Given the description of an element on the screen output the (x, y) to click on. 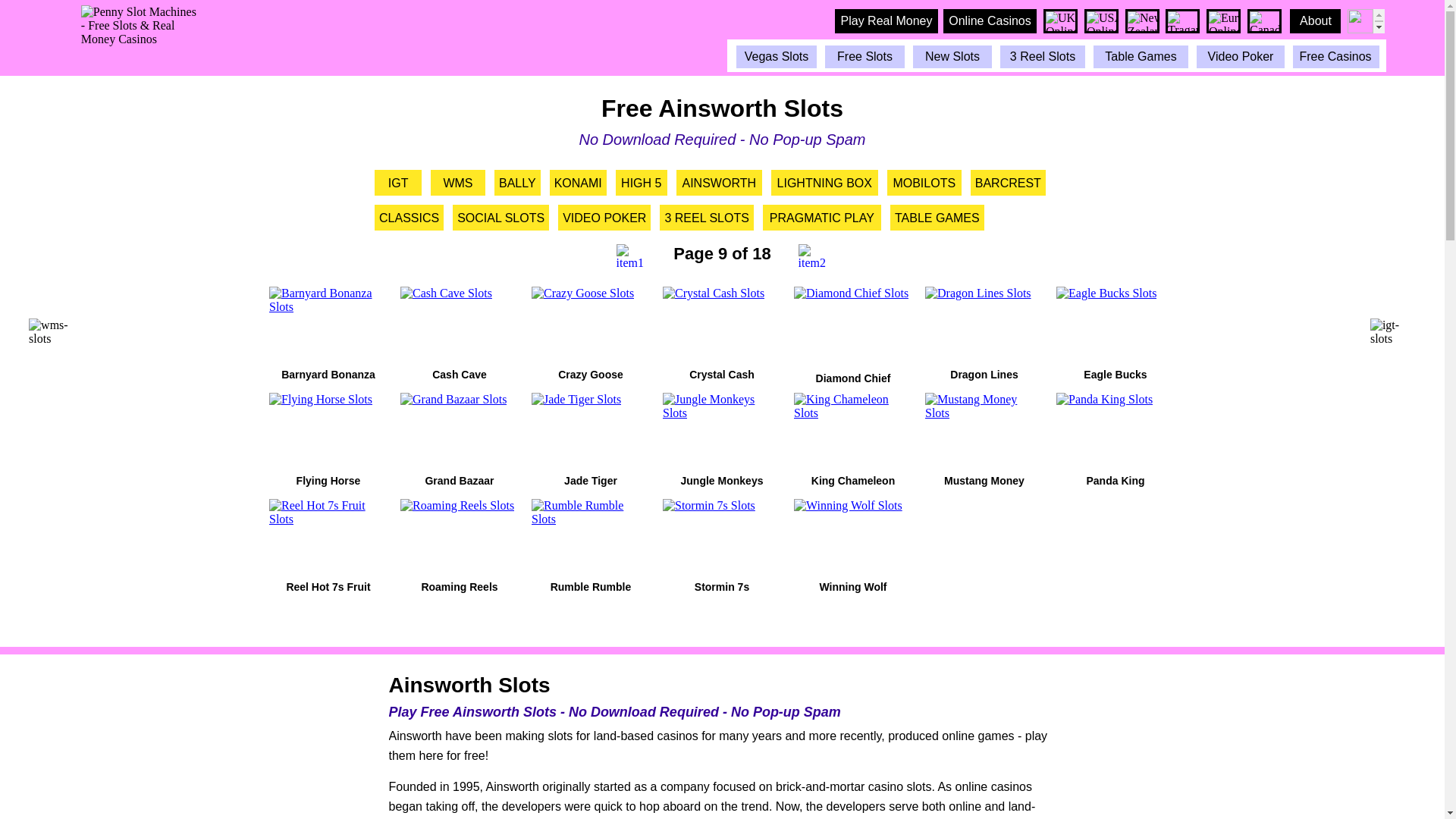
New Slots (951, 56)
Table Games (1140, 56)
Video Poker (1241, 56)
Casino Games (1140, 56)
Free Casinos (1335, 56)
Free Slots (864, 56)
Vegas Slots (775, 56)
Vegas Slots (775, 56)
About (1315, 20)
New Online Slots (951, 56)
